Given the description of an element on the screen output the (x, y) to click on. 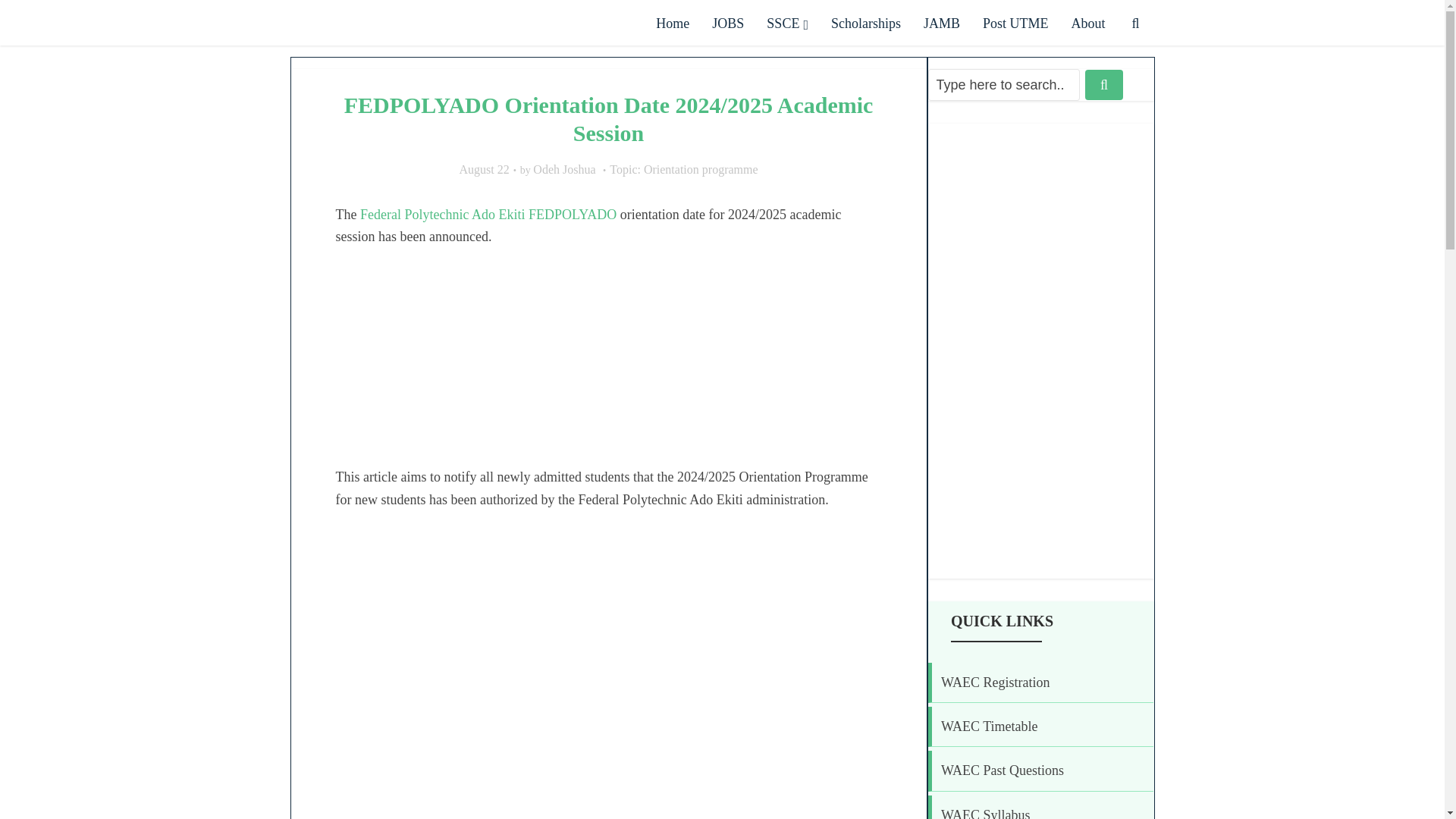
SSCE (787, 23)
Home (672, 23)
Orientation programme (700, 170)
JAMB (941, 23)
Odeh Joshua (563, 170)
Type here to search... (1004, 84)
JOBS (727, 23)
Type here to search... (1004, 84)
Federal Polytechnic Ado Ekiti FEDPOLYADO (487, 214)
Post UTME (1015, 23)
About (1087, 23)
Scholarships (865, 23)
